Given the description of an element on the screen output the (x, y) to click on. 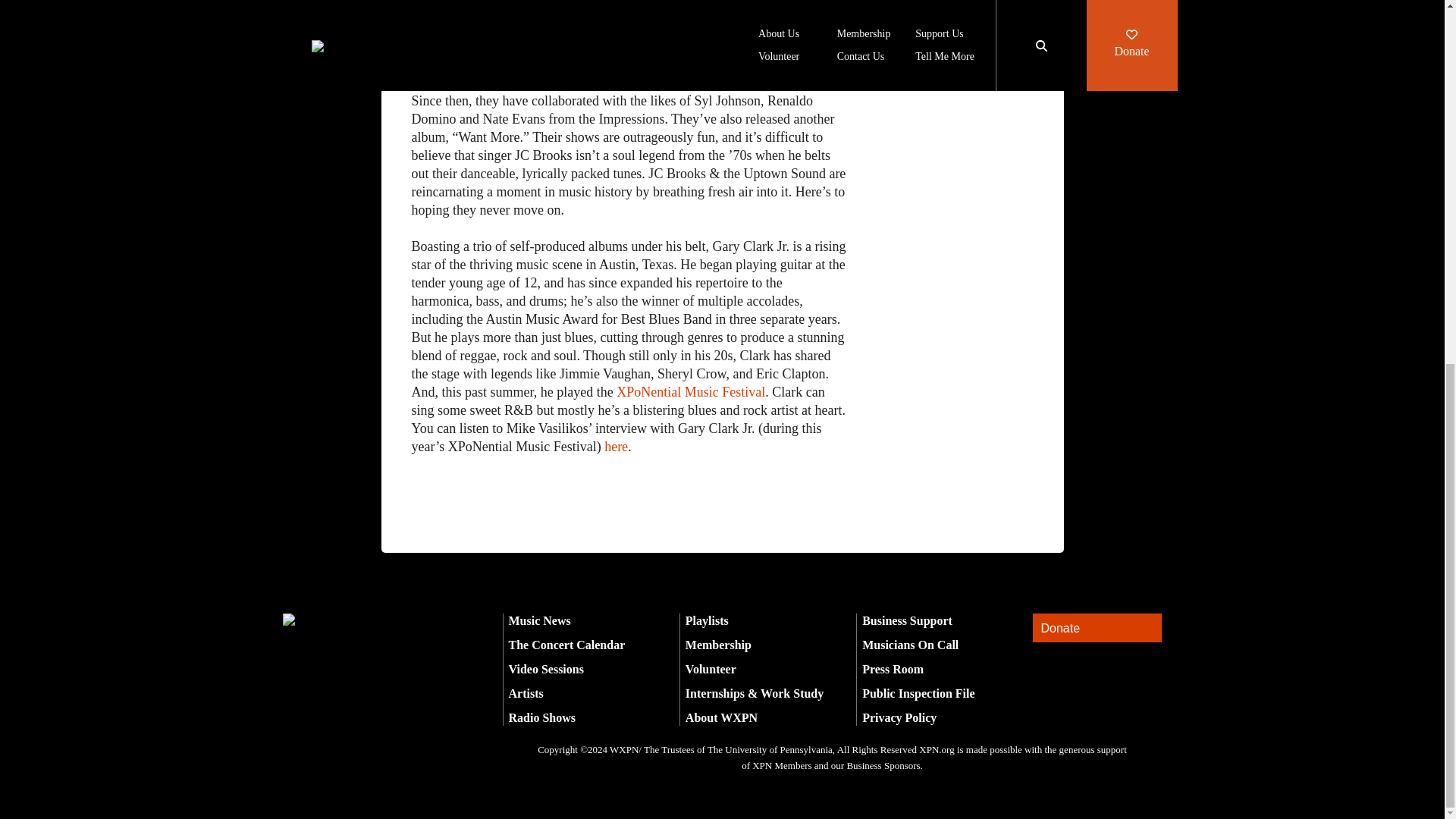
Music News (539, 620)
Press Room (892, 668)
About WXPN (721, 717)
Radio Shows (541, 717)
Musicians On Call (909, 644)
Membership (718, 644)
Business Support (906, 620)
Playlists (707, 620)
Public Inspection File (917, 693)
Artists (525, 693)
The Concert Calendar (566, 644)
here (615, 446)
Donate (1096, 627)
XPoNential Music Festival (690, 391)
Privacy Policy (898, 717)
